Given the description of an element on the screen output the (x, y) to click on. 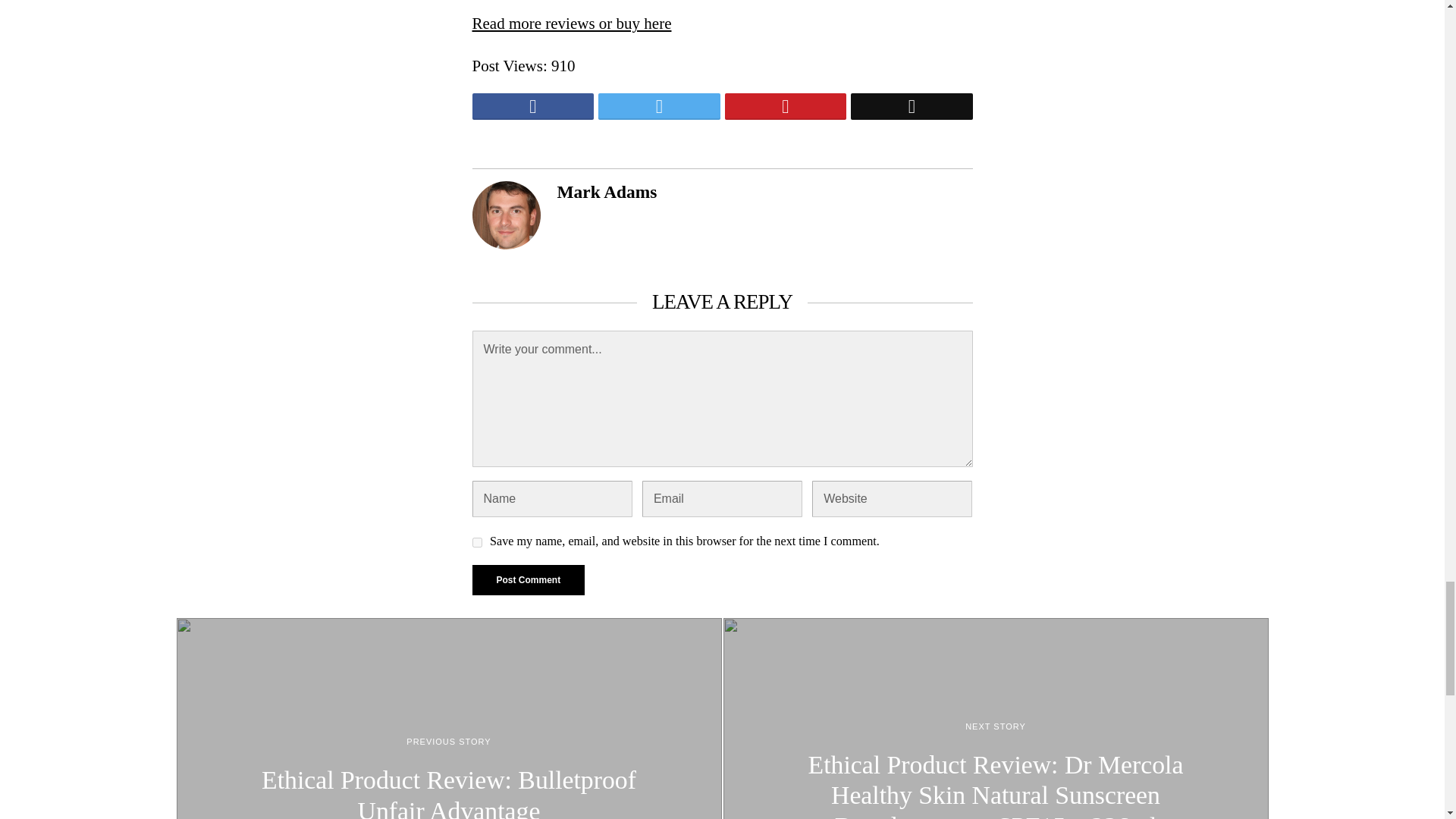
Post Comment (528, 580)
Read more reviews or buy here (571, 23)
Mark Adams (606, 191)
Post Comment (528, 580)
yes (476, 542)
